Given the description of an element on the screen output the (x, y) to click on. 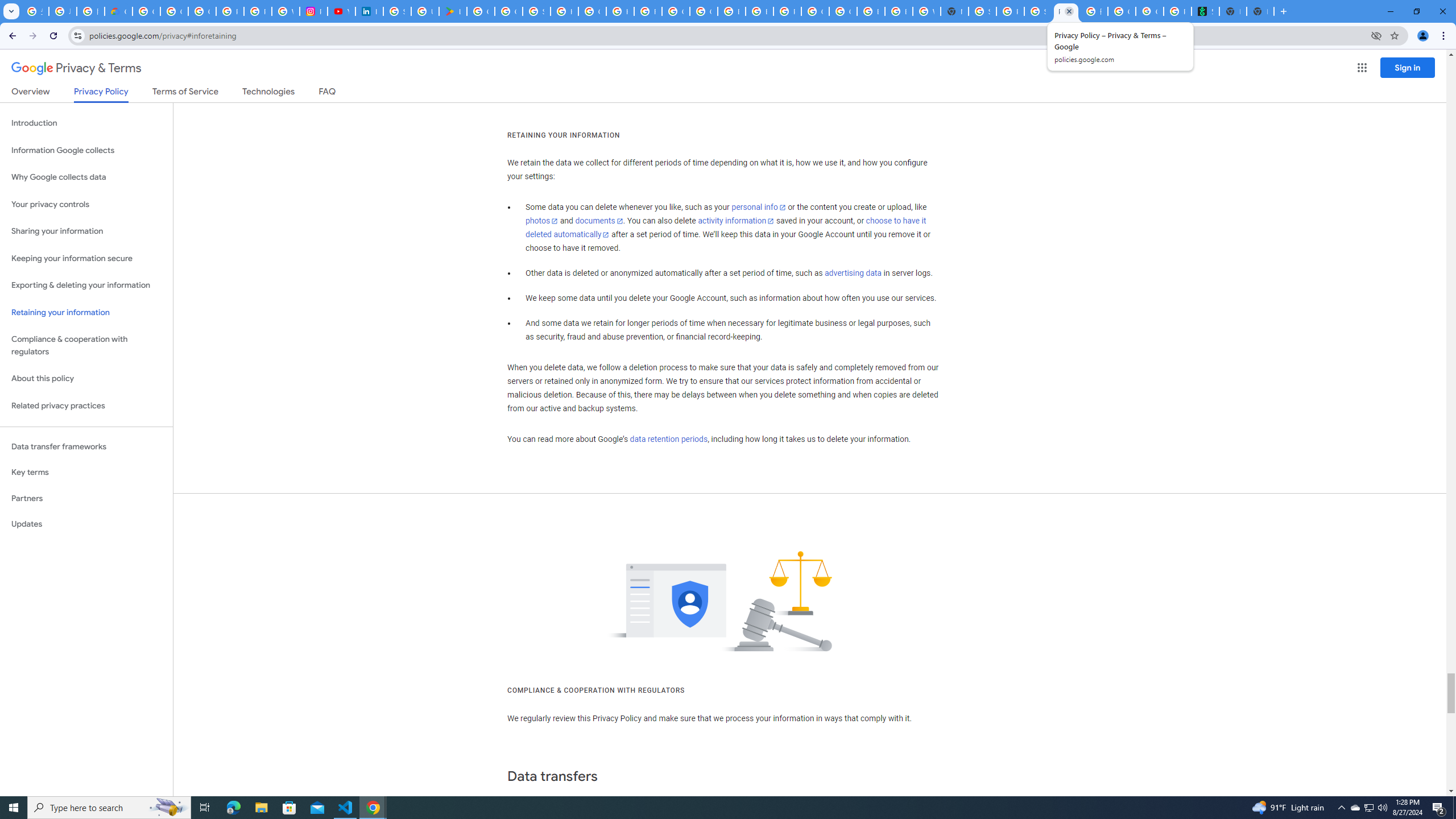
Retaining your information (86, 312)
